Given the description of an element on the screen output the (x, y) to click on. 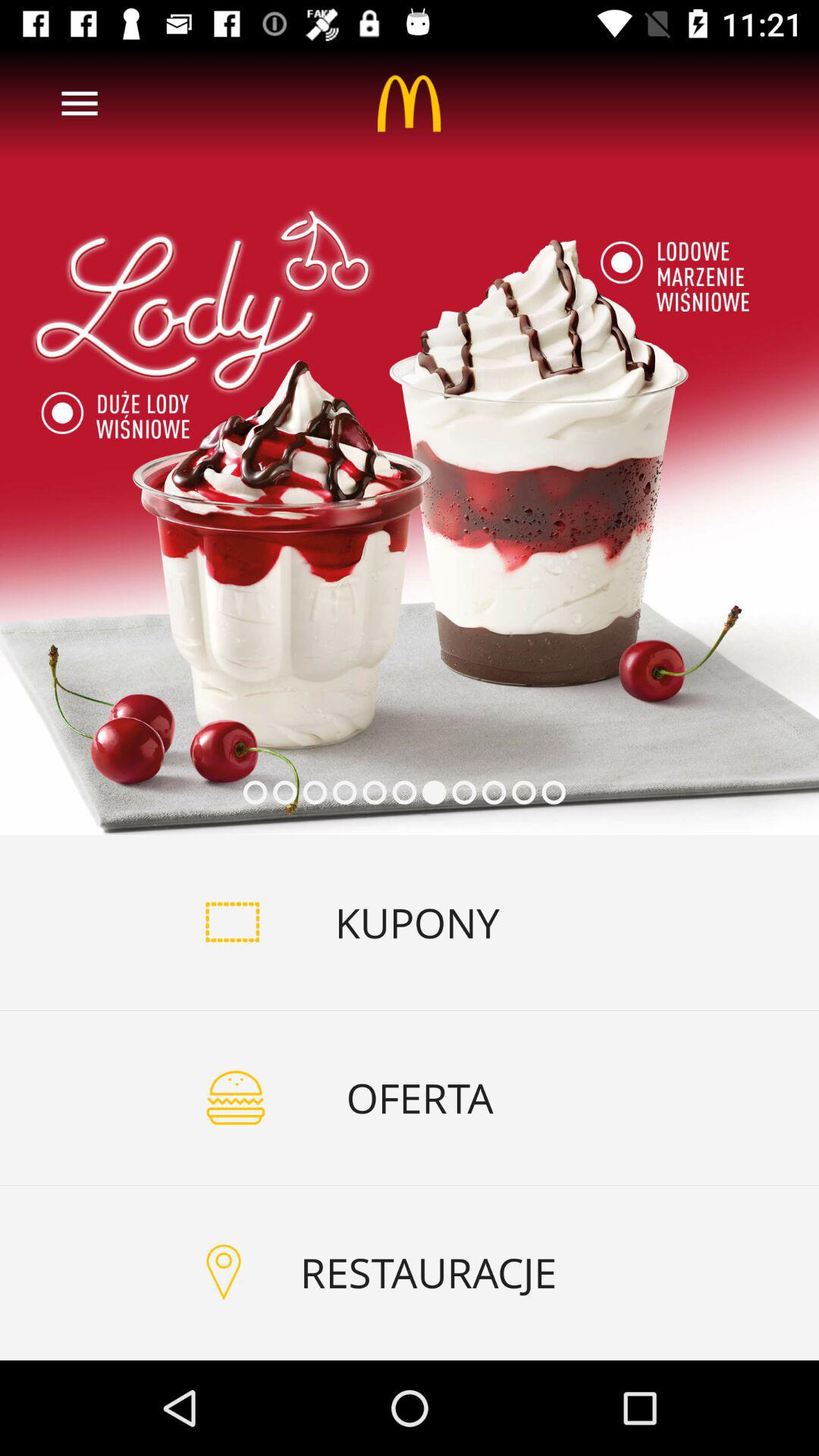
select menu (79, 103)
